Given the description of an element on the screen output the (x, y) to click on. 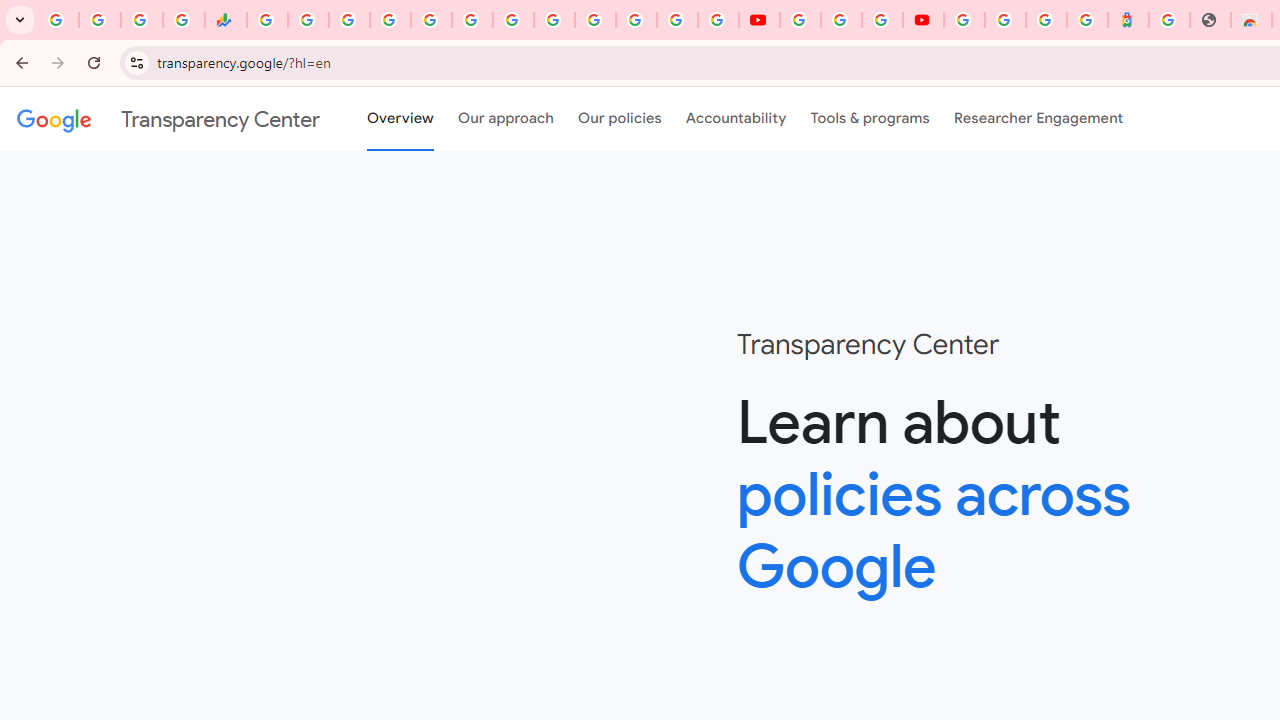
Android TV Policies and Guidelines - Transparency Center (512, 20)
Search tabs (20, 20)
Sign in - Google Accounts (964, 20)
View site information (136, 62)
Back (19, 62)
Atour Hotel - Google hotels (1128, 20)
Researcher Engagement (1038, 119)
Content Creator Programs & Opportunities - YouTube Creators (923, 20)
Create your Google Account (881, 20)
